Given the description of an element on the screen output the (x, y) to click on. 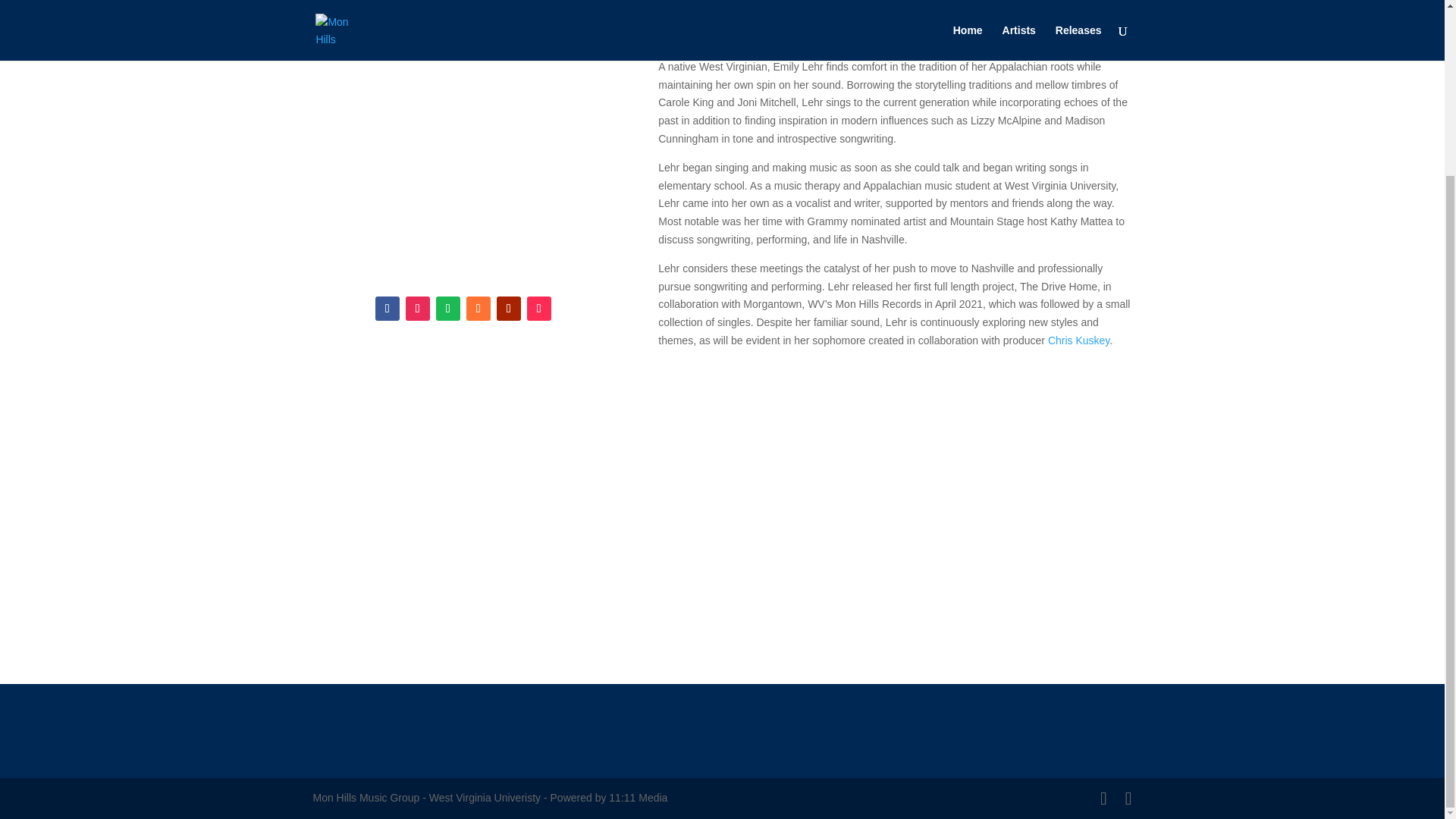
Follow on TikTok (539, 308)
Follow on Spotify (447, 308)
Chris Kuskey (1078, 340)
Follow on Facebook (386, 308)
Follow on Instagram (417, 308)
Follow on Youtube (508, 308)
Follow on iTunes (477, 308)
